Given the description of an element on the screen output the (x, y) to click on. 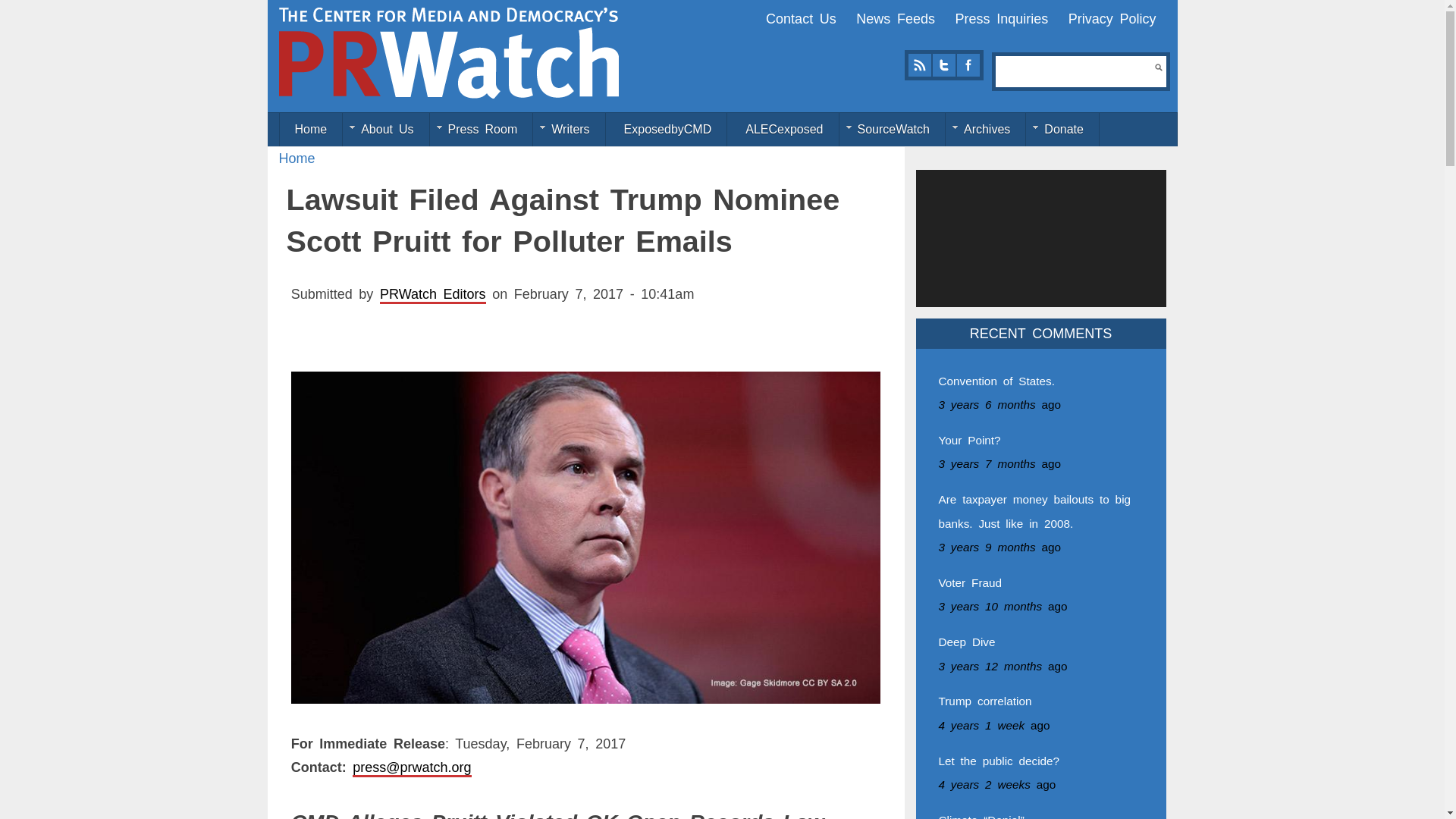
Subscribe to CMD's RSS Feeds (919, 64)
Home (297, 158)
Press Inquiries (1001, 18)
Search (1157, 67)
Contact Us (800, 18)
Follow CMD's Posts on Twitter (943, 64)
Enter the terms you wish to search for. (1074, 71)
Facebook (967, 64)
View user profile. (433, 294)
Search (1157, 67)
